Given the description of an element on the screen output the (x, y) to click on. 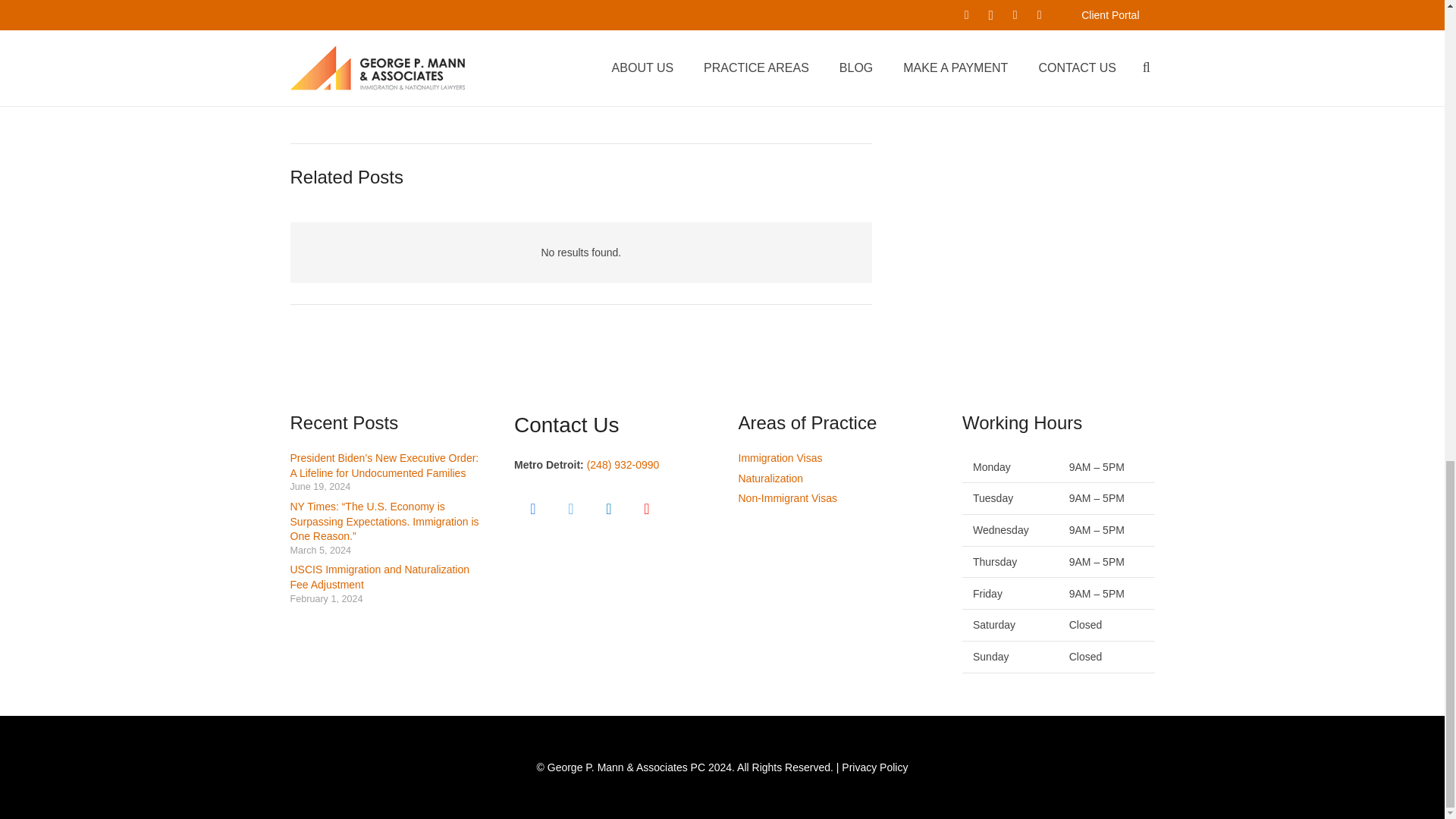
gold standard (561, 39)
LinkedIn (608, 508)
Facebook (532, 508)
Twitter (570, 508)
YouTube (646, 508)
